Given the description of an element on the screen output the (x, y) to click on. 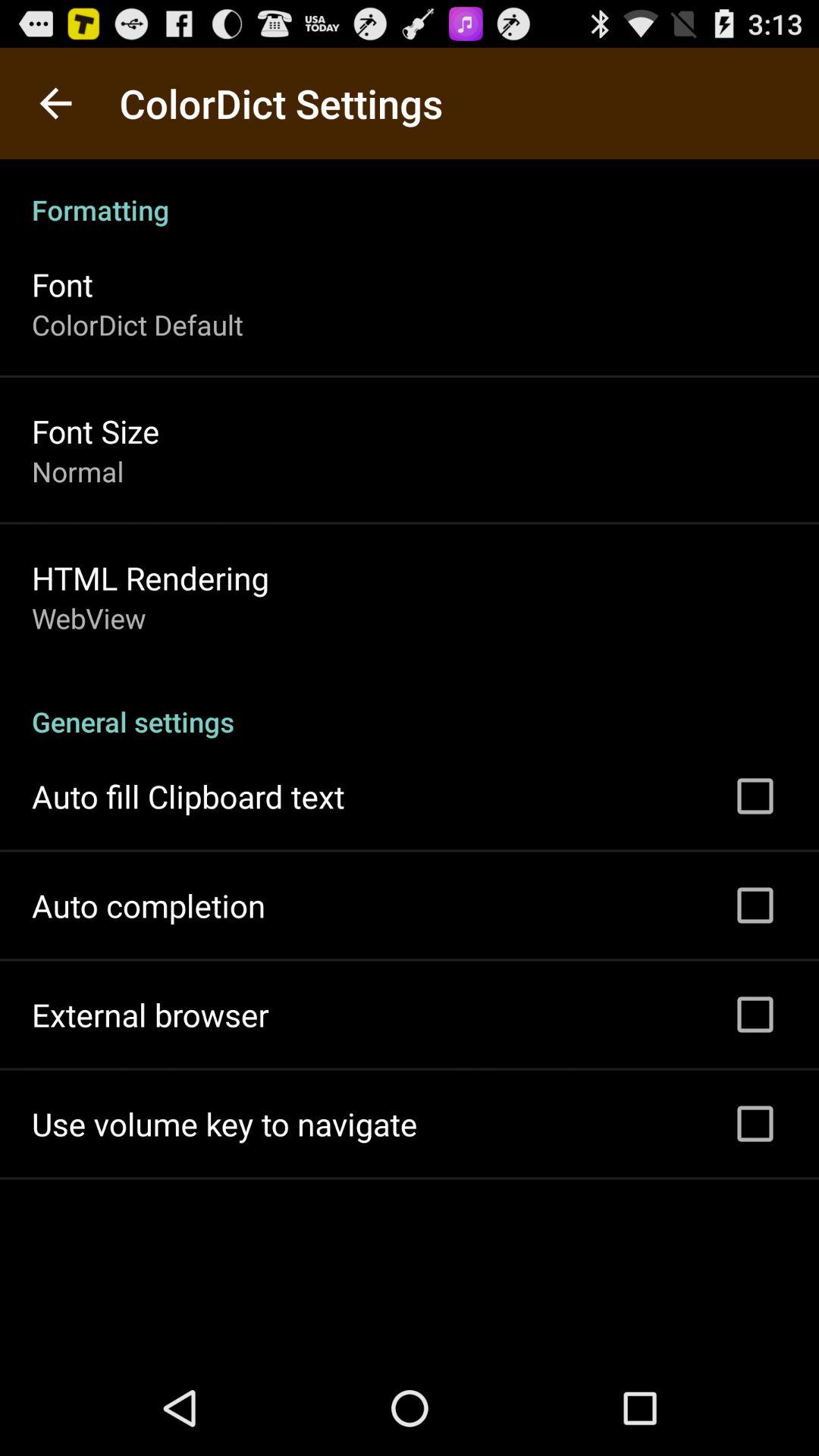
turn off general settings item (409, 705)
